Given the description of an element on the screen output the (x, y) to click on. 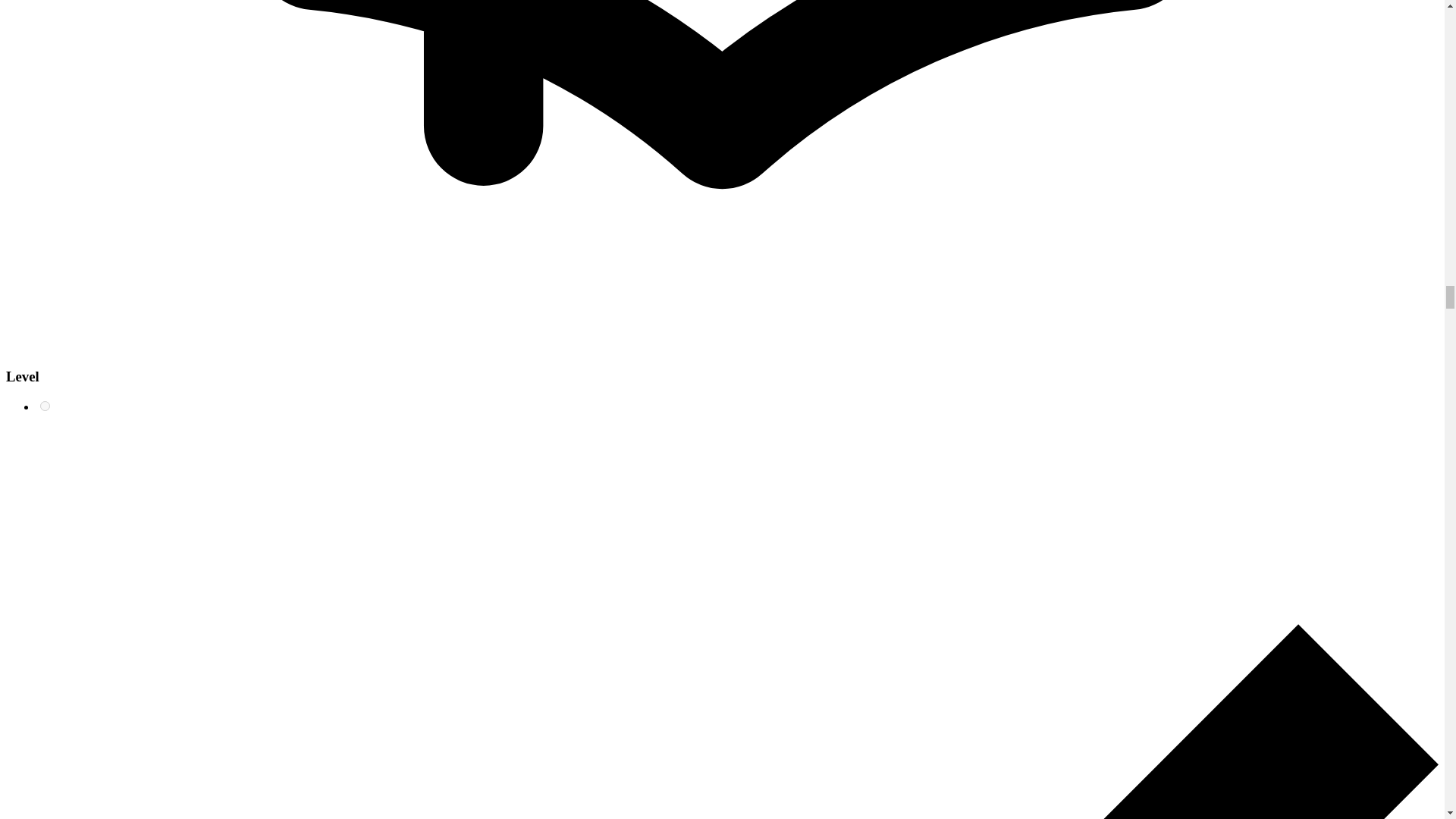
3 (44, 406)
